Given the description of an element on the screen output the (x, y) to click on. 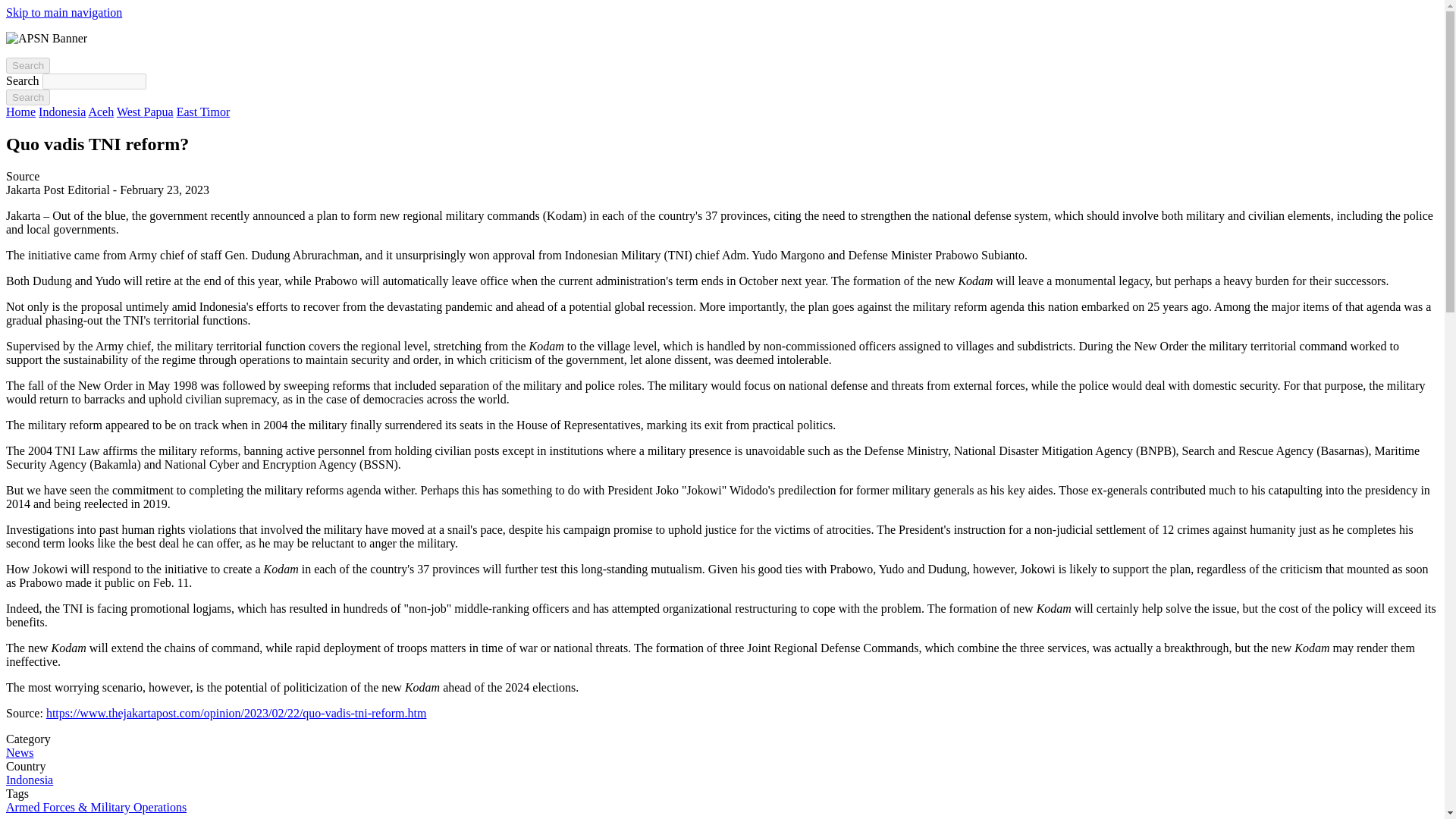
Aceh (100, 111)
News (19, 752)
Home (19, 111)
Search (27, 97)
Enter the terms you wish to search for. (94, 81)
Search (27, 97)
Search (27, 65)
Search this site (27, 65)
Skip to main navigation (63, 11)
East Timor (203, 111)
West Papua (144, 111)
Indonesia (62, 111)
Indonesia (28, 779)
